Given the description of an element on the screen output the (x, y) to click on. 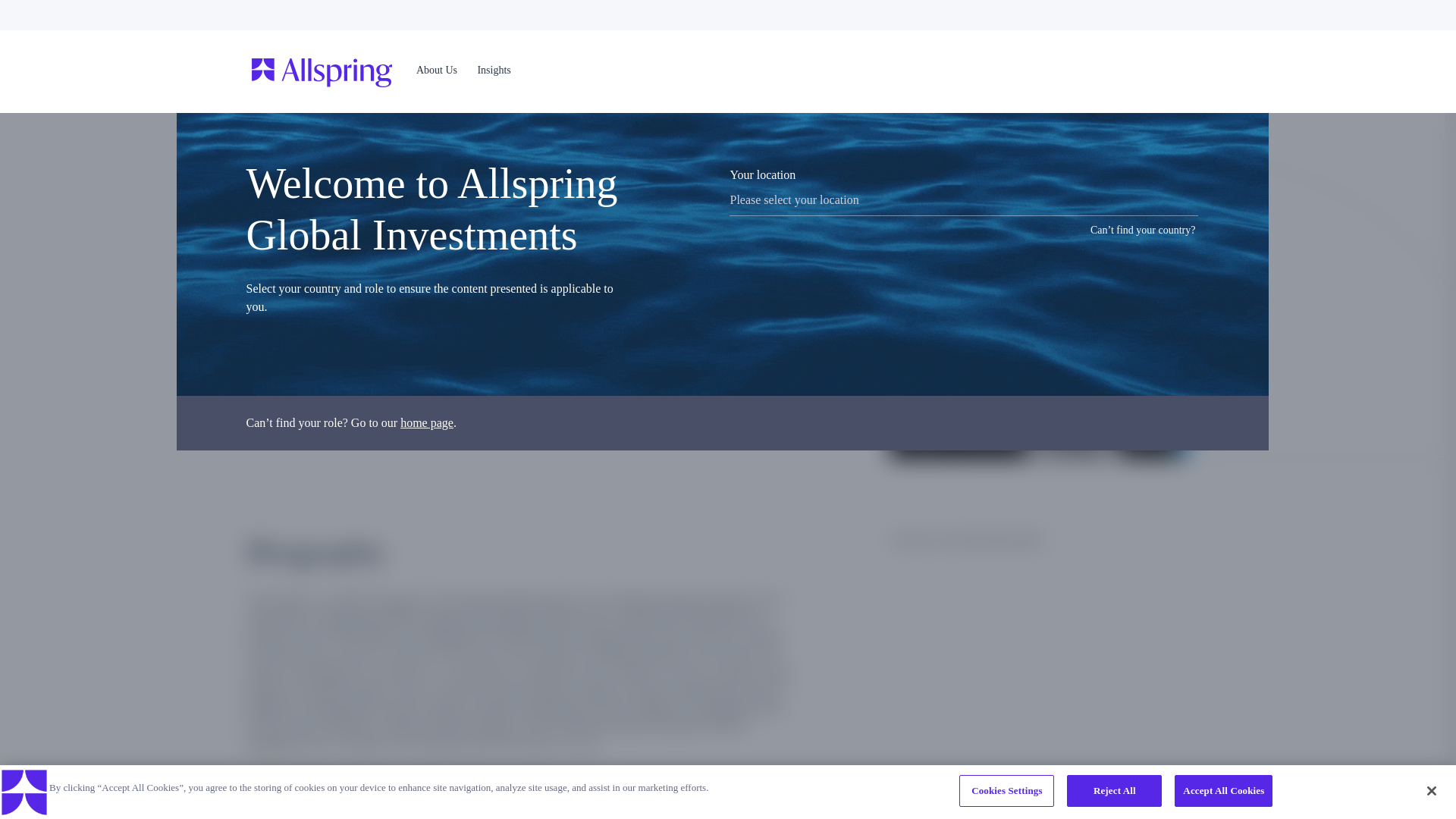
Insights (494, 69)
Insights (494, 71)
About Us (437, 71)
About Us (436, 69)
Please select your location (963, 200)
About Us (432, 71)
Insights (493, 71)
